Given the description of an element on the screen output the (x, y) to click on. 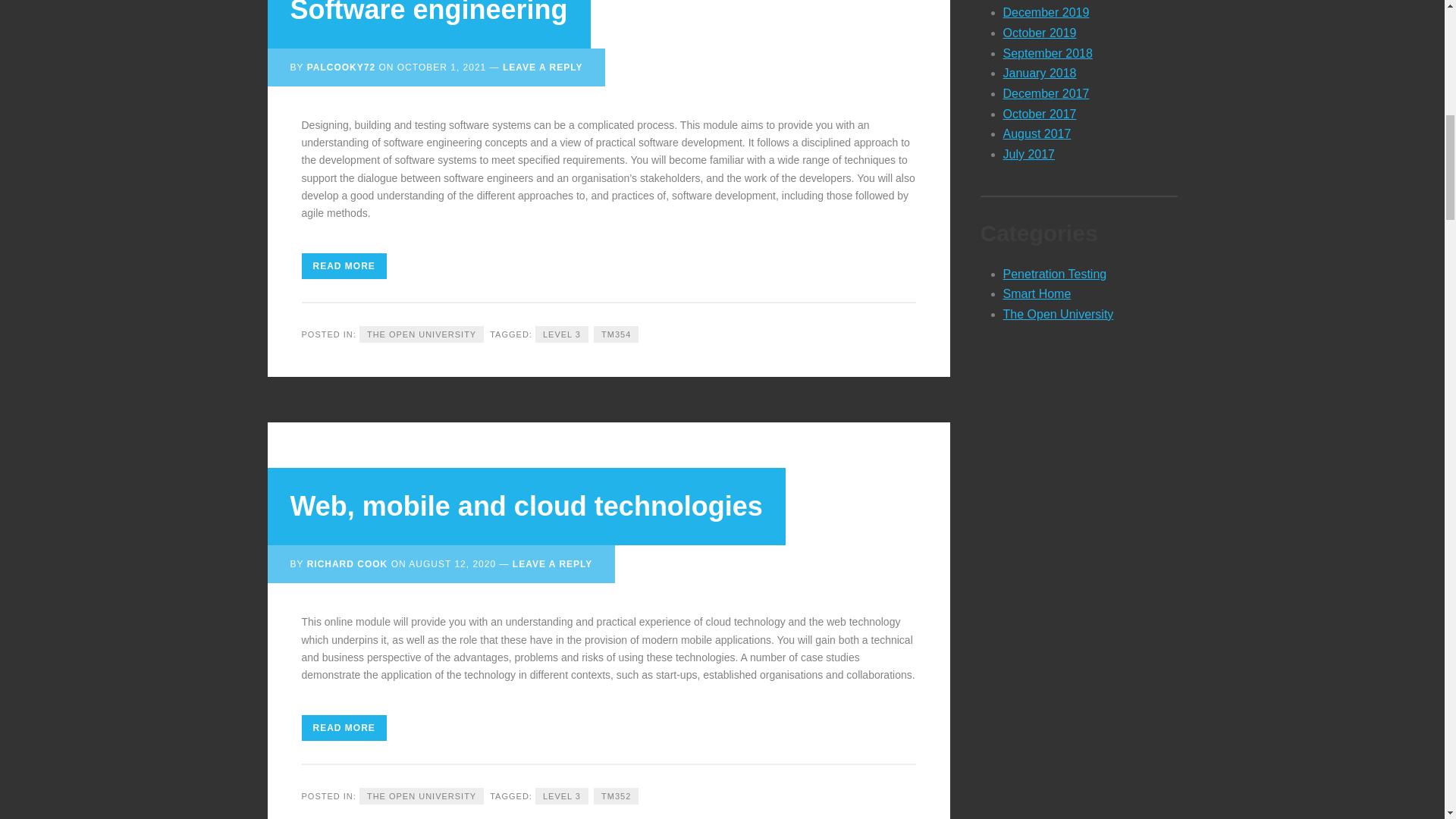
Web, mobile and cloud technologies (525, 505)
THE OPEN UNIVERSITY (421, 334)
RICHARD COOK (347, 563)
PALCOOKY72 (341, 67)
THE OPEN UNIVERSITY (421, 796)
TM354 (616, 334)
LEAVE A REPLY (552, 563)
LEVEL 3 (561, 334)
Software engineering (428, 12)
TM352 (616, 796)
READ MORE (344, 727)
LEAVE A REPLY (542, 67)
READ MORE (344, 266)
LEVEL 3 (561, 796)
